Given the description of an element on the screen output the (x, y) to click on. 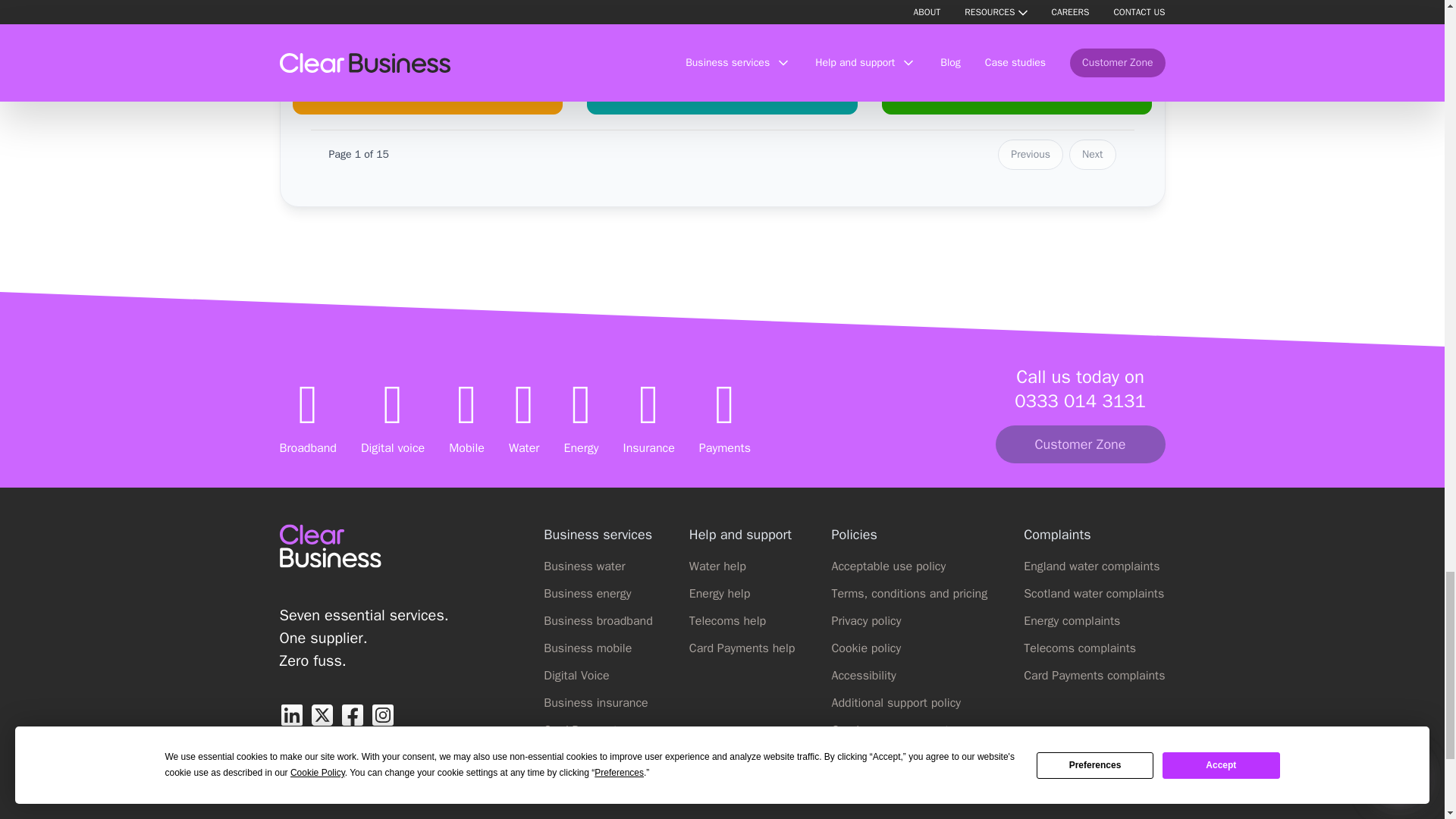
Previous (1029, 154)
Next (1091, 154)
